Given the description of an element on the screen output the (x, y) to click on. 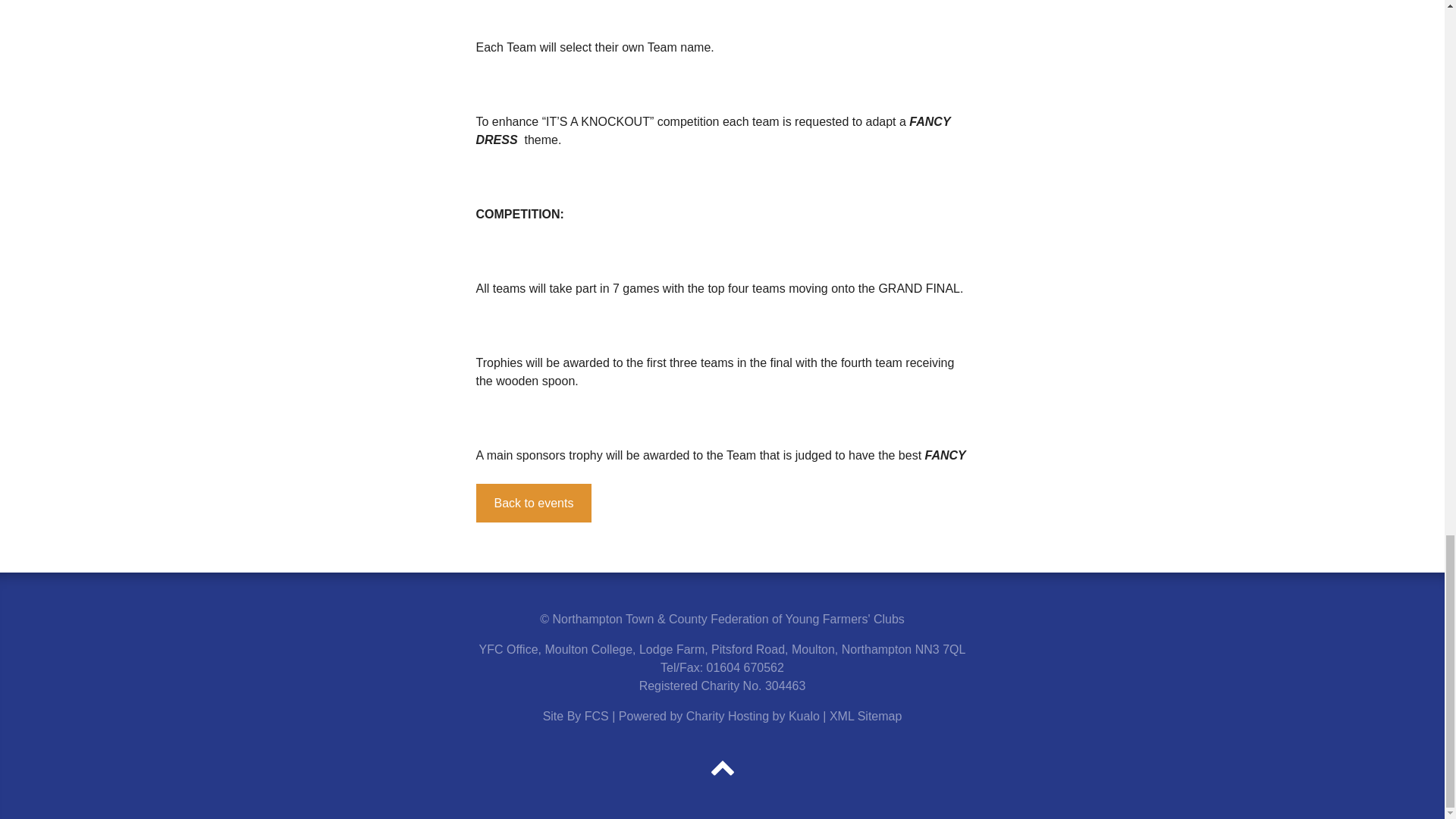
Back to events (534, 503)
XML Sitemap (865, 716)
Modified by Northants YFC (596, 716)
Charity Hosting by Kualo (752, 716)
FCS (596, 716)
